Given the description of an element on the screen output the (x, y) to click on. 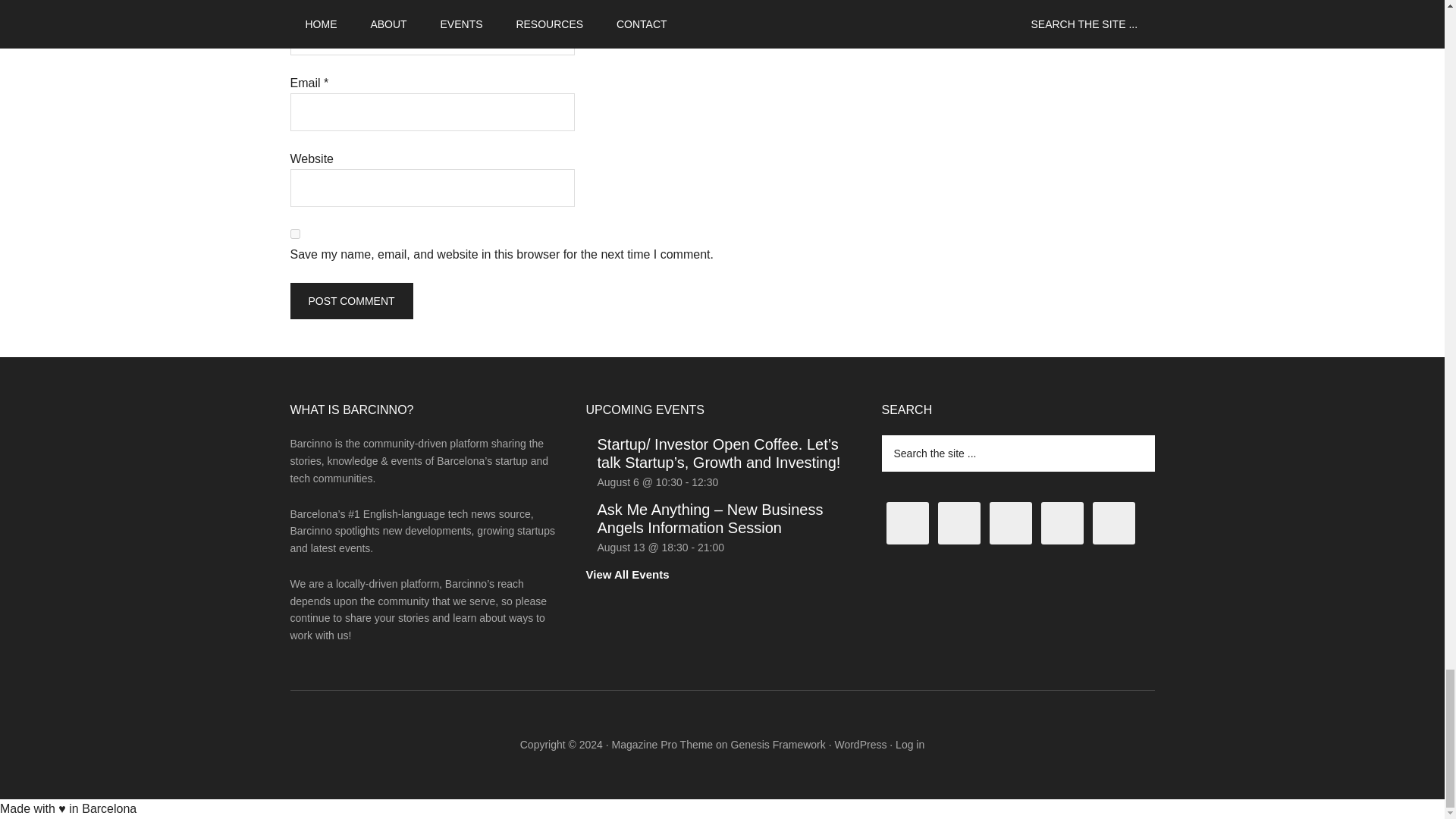
Post Comment (350, 300)
yes (294, 234)
